Given the description of an element on the screen output the (x, y) to click on. 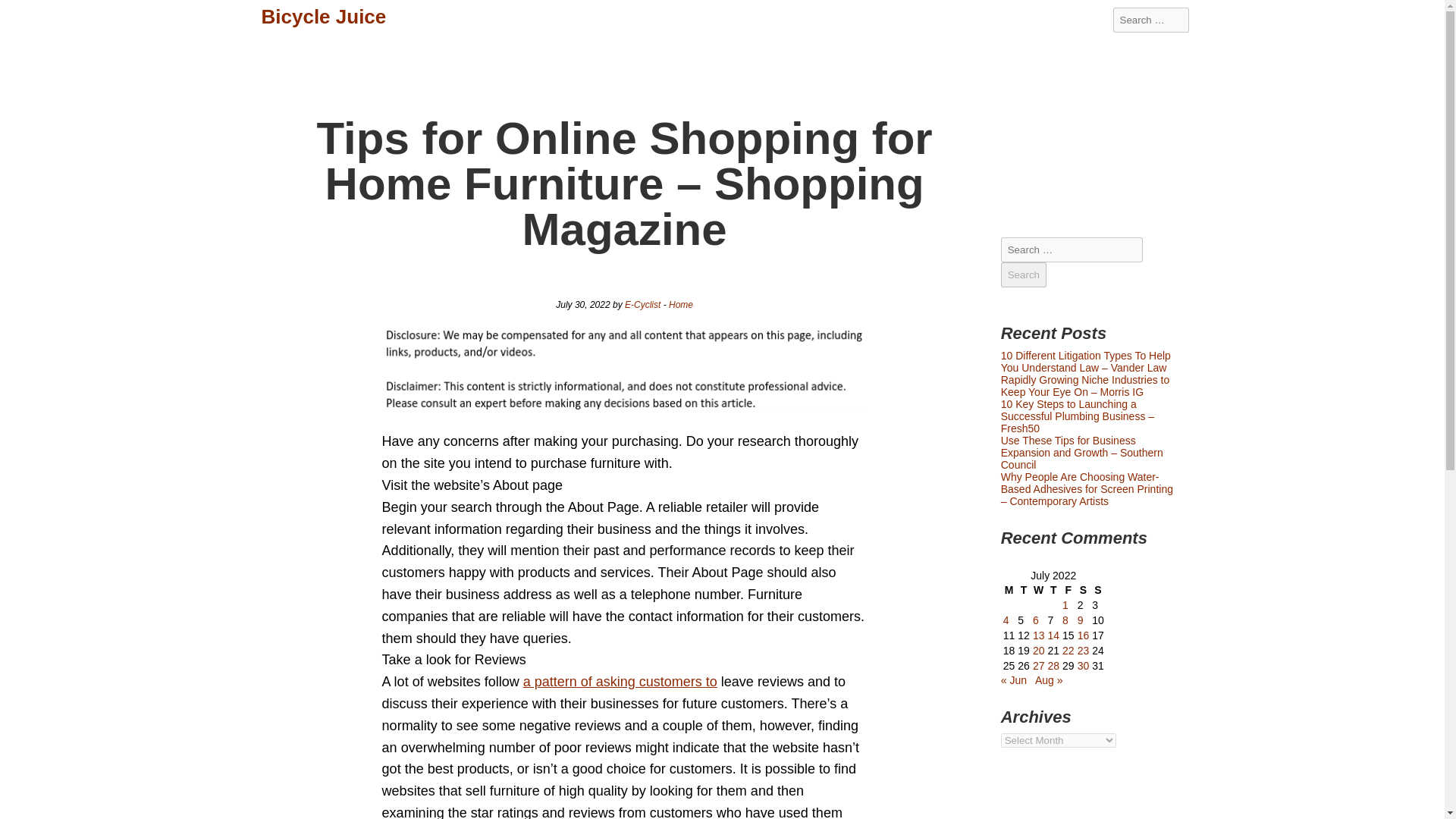
13 (1038, 635)
Thursday (1052, 590)
30 (1083, 665)
Sunday (1097, 590)
Friday (1068, 590)
Saturday (1083, 590)
a pattern of asking customers to (619, 681)
23 (1083, 650)
Search (22, 12)
Tuesday (1023, 590)
22 (1068, 650)
Bicycle Juice (323, 16)
Search (1023, 274)
Search (1023, 274)
Posts by E-Cyclist (642, 304)
